Given the description of an element on the screen output the (x, y) to click on. 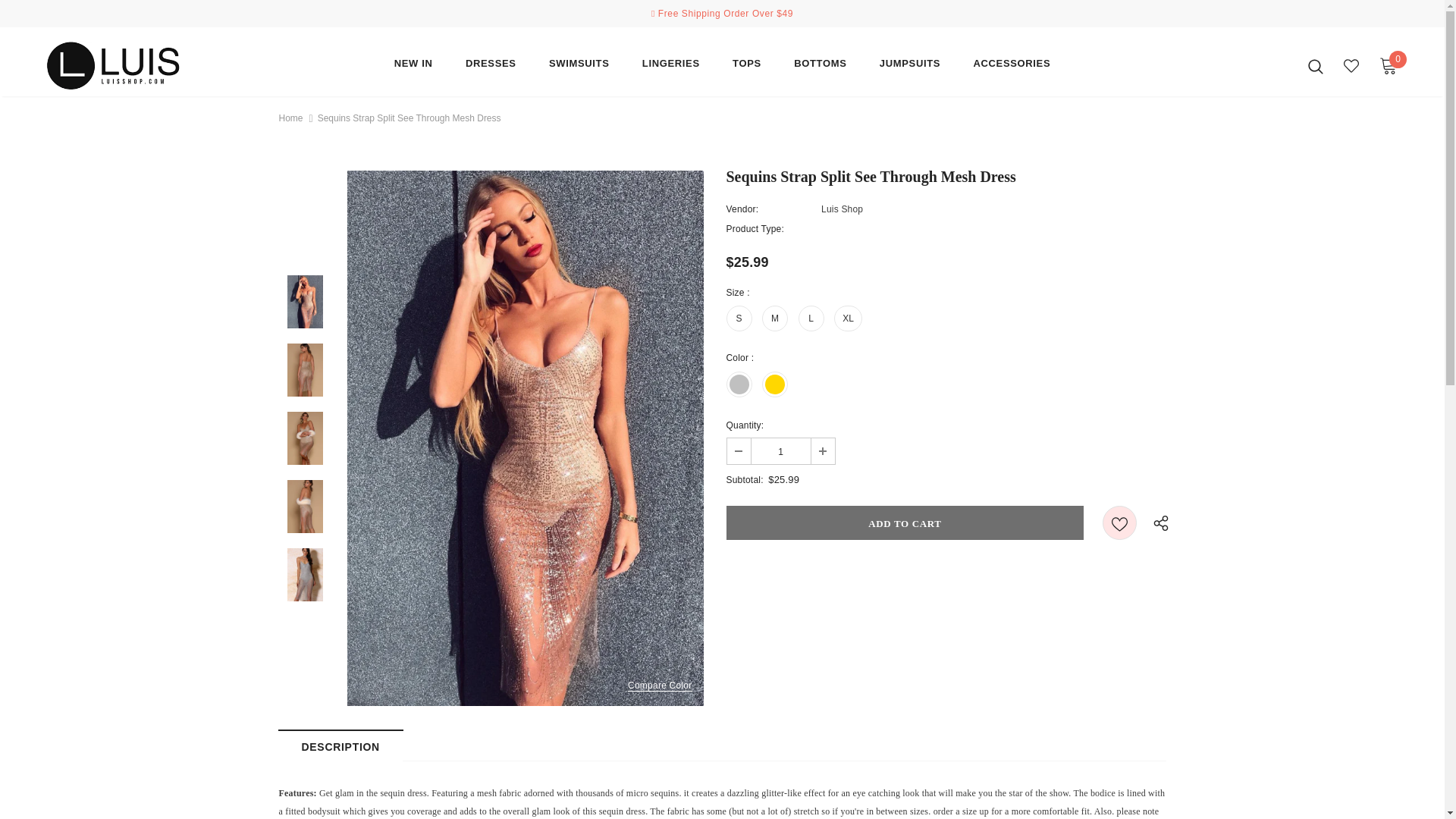
BOTTOMS (819, 66)
Search Icon (1315, 65)
DRESSES (490, 66)
Home (290, 117)
NEW IN (413, 66)
LINGERIES (671, 66)
JUMPSUITS (909, 66)
SWIMSUITS (579, 66)
Add to cart (905, 522)
TOPS (746, 66)
Logo (134, 65)
0 (1387, 65)
1 (780, 451)
ACCESSORIES (1010, 66)
